Given the description of an element on the screen output the (x, y) to click on. 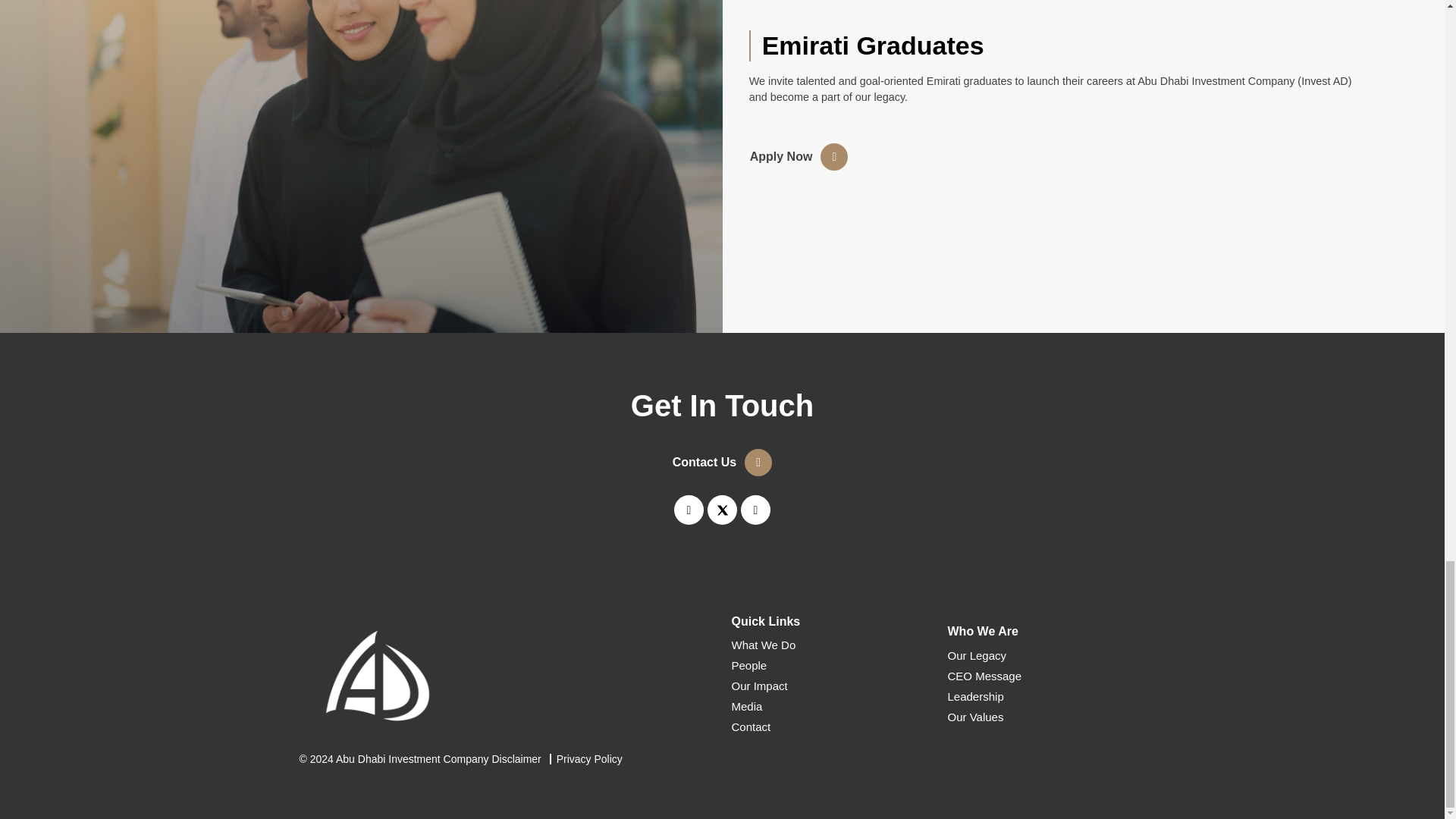
What We Do (829, 644)
Our Impact (829, 685)
Leadership (1046, 696)
People (829, 665)
Apply Now (798, 156)
Contact Us (722, 461)
Contact (829, 726)
Our Values (1046, 716)
Disclaimer (516, 758)
Our Legacy (1046, 655)
